Given the description of an element on the screen output the (x, y) to click on. 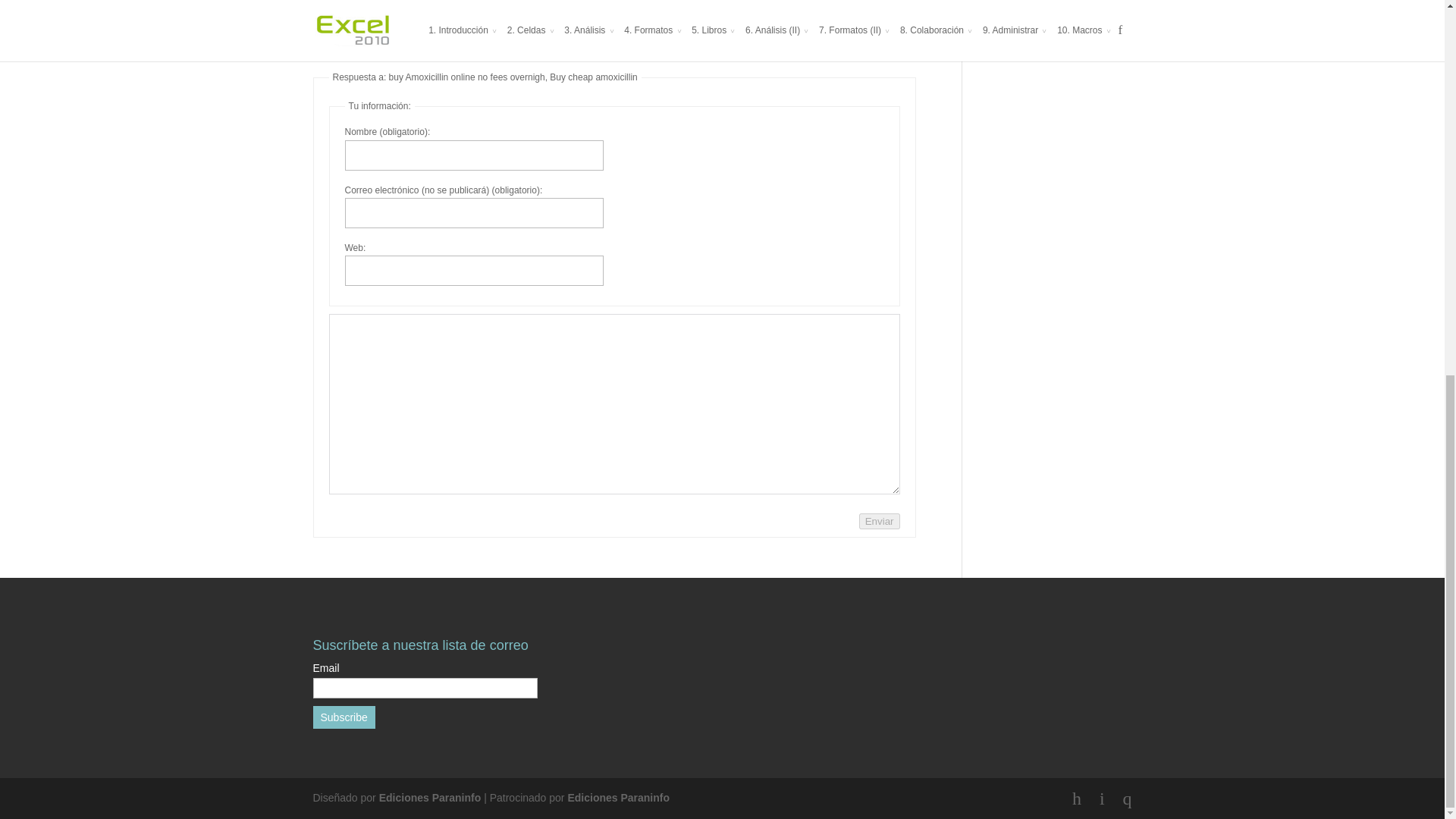
Subscribe (343, 716)
Ediciones Paraninfo (429, 797)
Ediciones Paraninfo (618, 797)
